Given the description of an element on the screen output the (x, y) to click on. 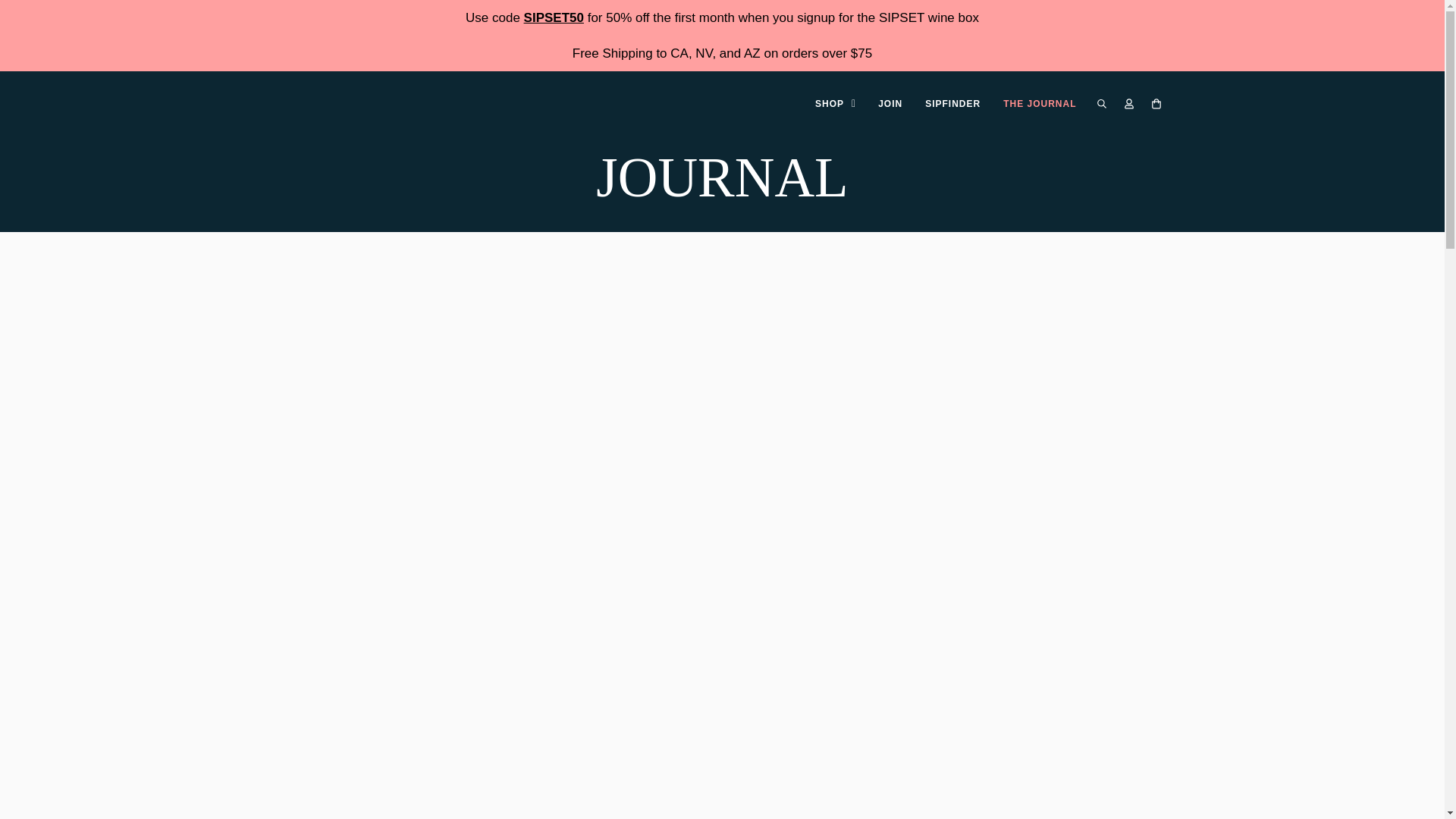
JOIN THE SIPSET (721, 17)
THE JOURNAL (1039, 103)
SIPFINDER (952, 103)
sipsetter (342, 103)
JOIN (890, 103)
SHOP (834, 103)
